Given the description of an element on the screen output the (x, y) to click on. 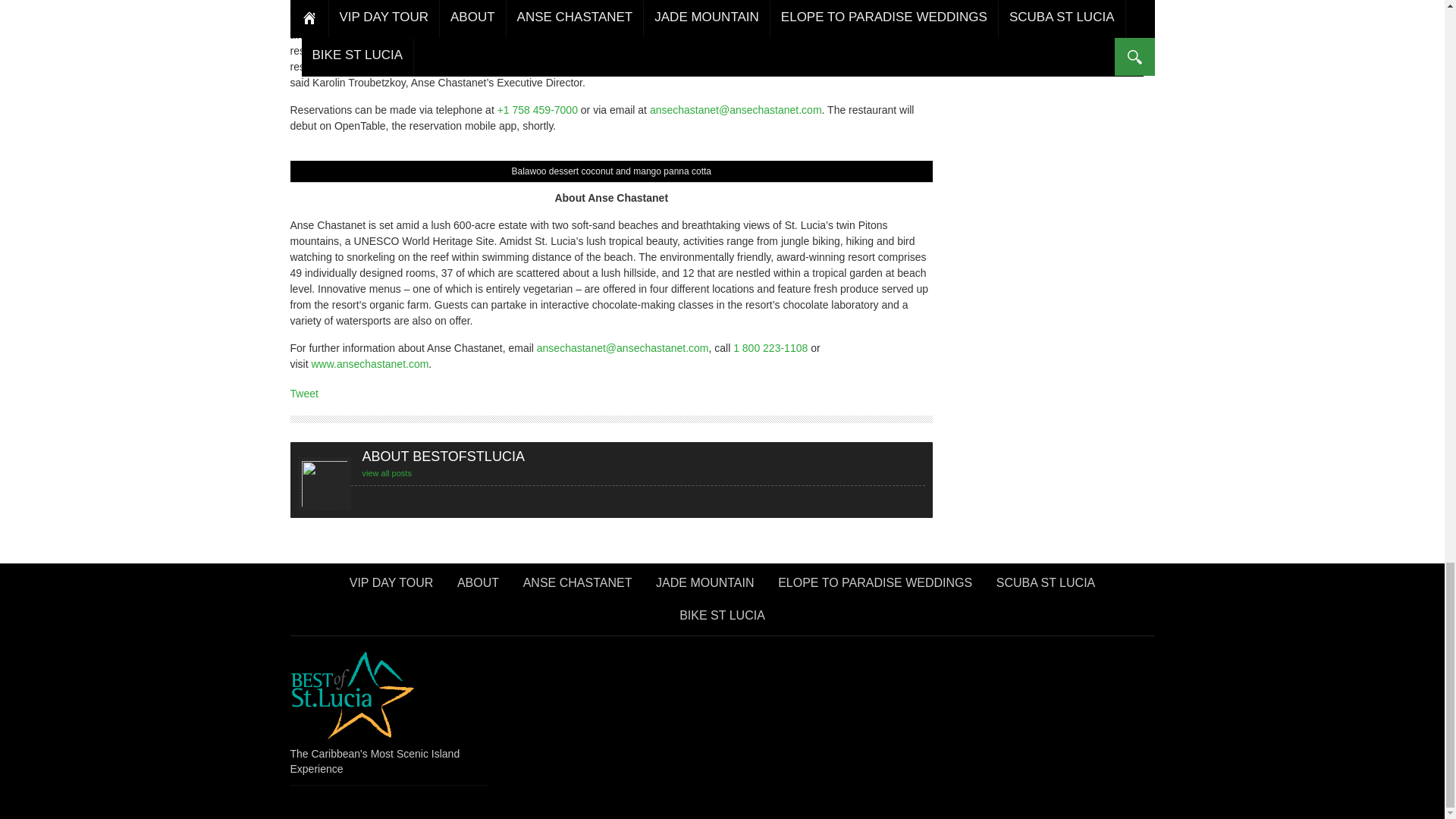
Anse Chastanet Resort St Lucia (577, 586)
Jade Mountain St Lucia (704, 586)
JADE MOUNTAIN (704, 586)
BIKE ST LUCIA (722, 619)
ANSE CHASTANET (577, 586)
view all posts (387, 472)
ABOUT (477, 586)
About Best of St. Lucia (477, 586)
VIP DAY TOUR (391, 586)
Tweet (303, 393)
1 800 223-1108 (770, 347)
SCUBA ST LUCIA (1045, 586)
ELOPE TO PARADISE WEDDINGS (874, 586)
Best of St Lucia (351, 692)
www.ansechastanet.com (369, 363)
